Given the description of an element on the screen output the (x, y) to click on. 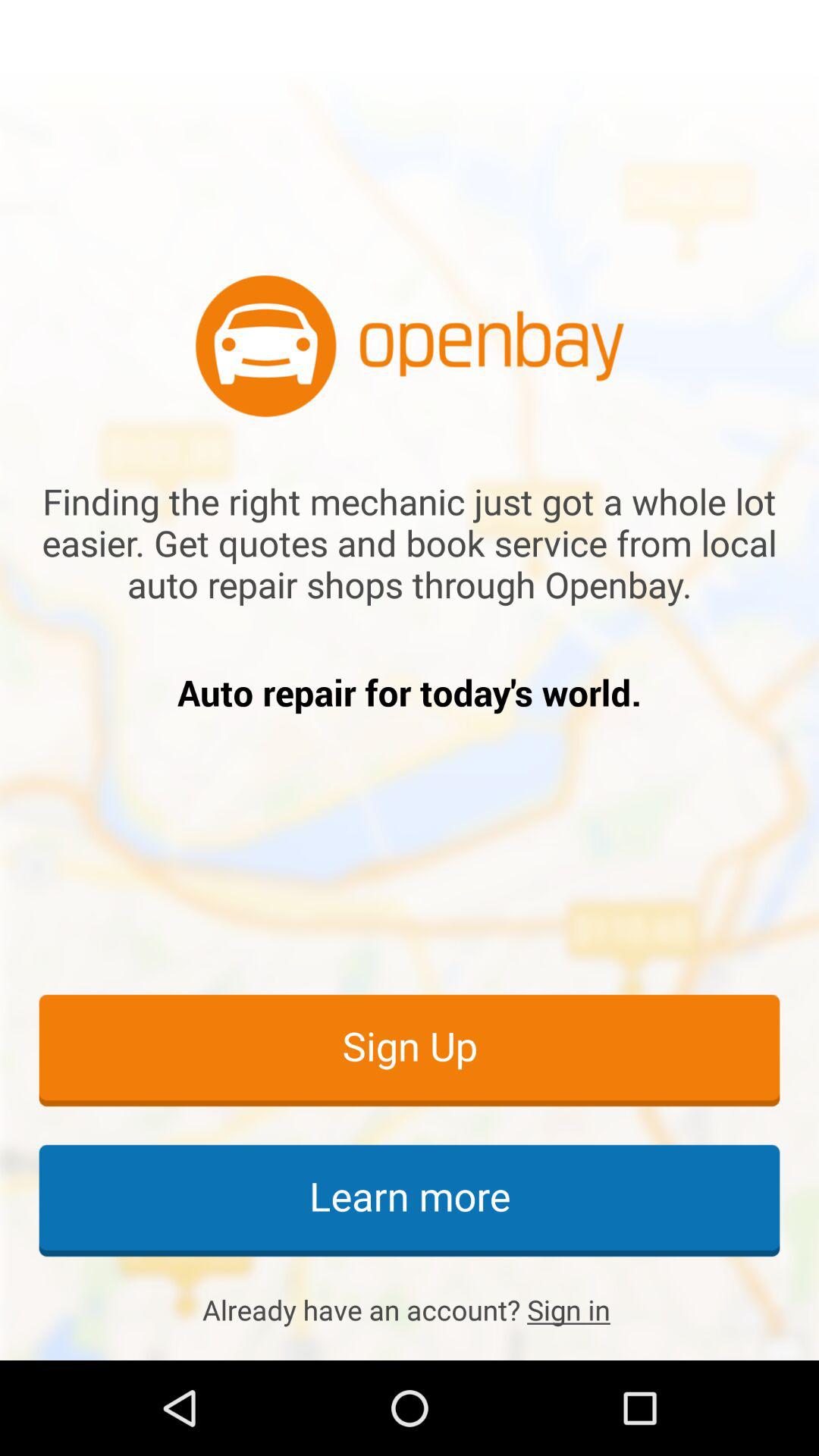
turn off item below auto repair for item (409, 1049)
